Given the description of an element on the screen output the (x, y) to click on. 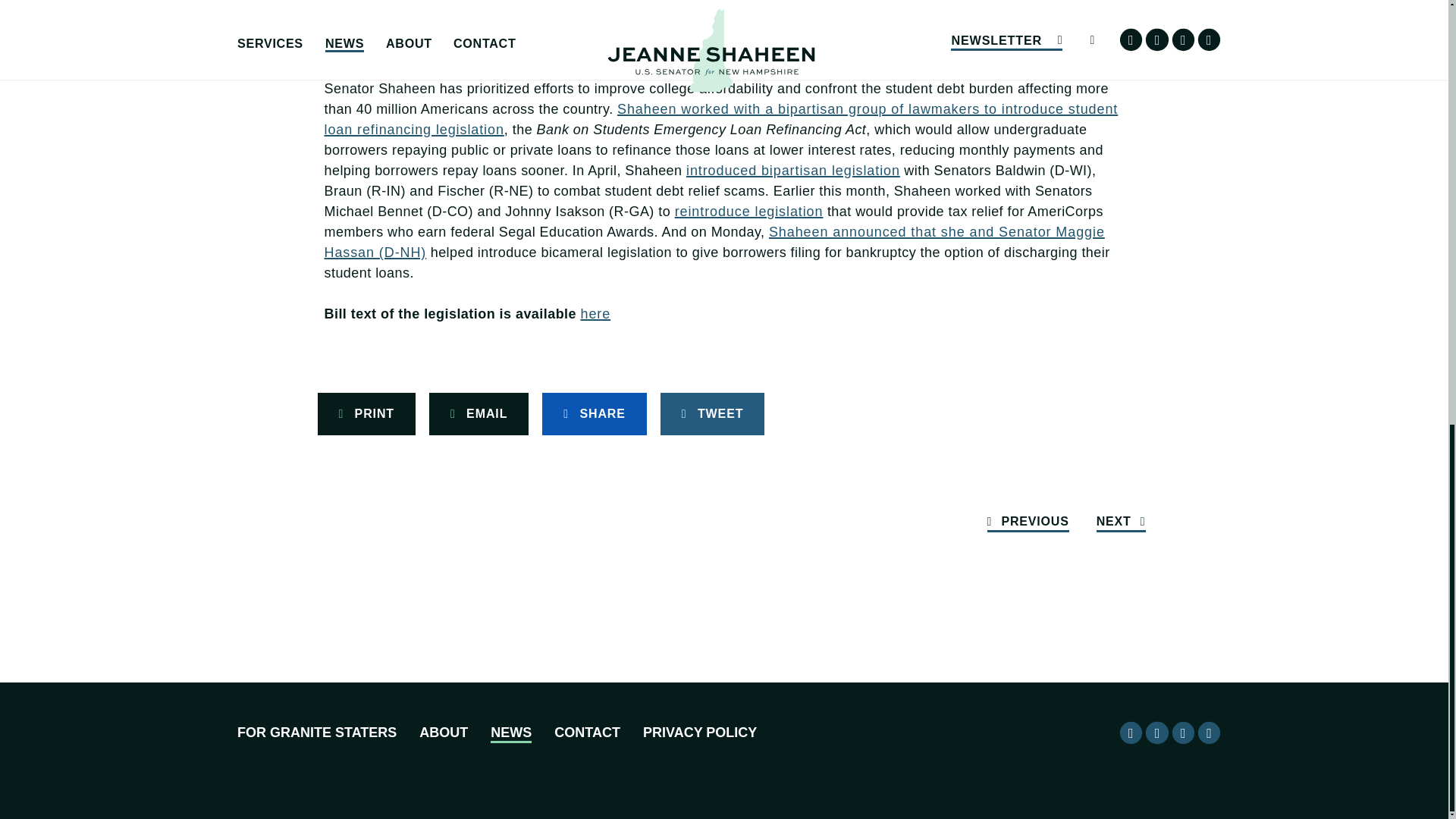
Contact (587, 733)
Privacy Policy (700, 733)
News (510, 733)
For Granite Staters (316, 733)
About (443, 733)
